Given the description of an element on the screen output the (x, y) to click on. 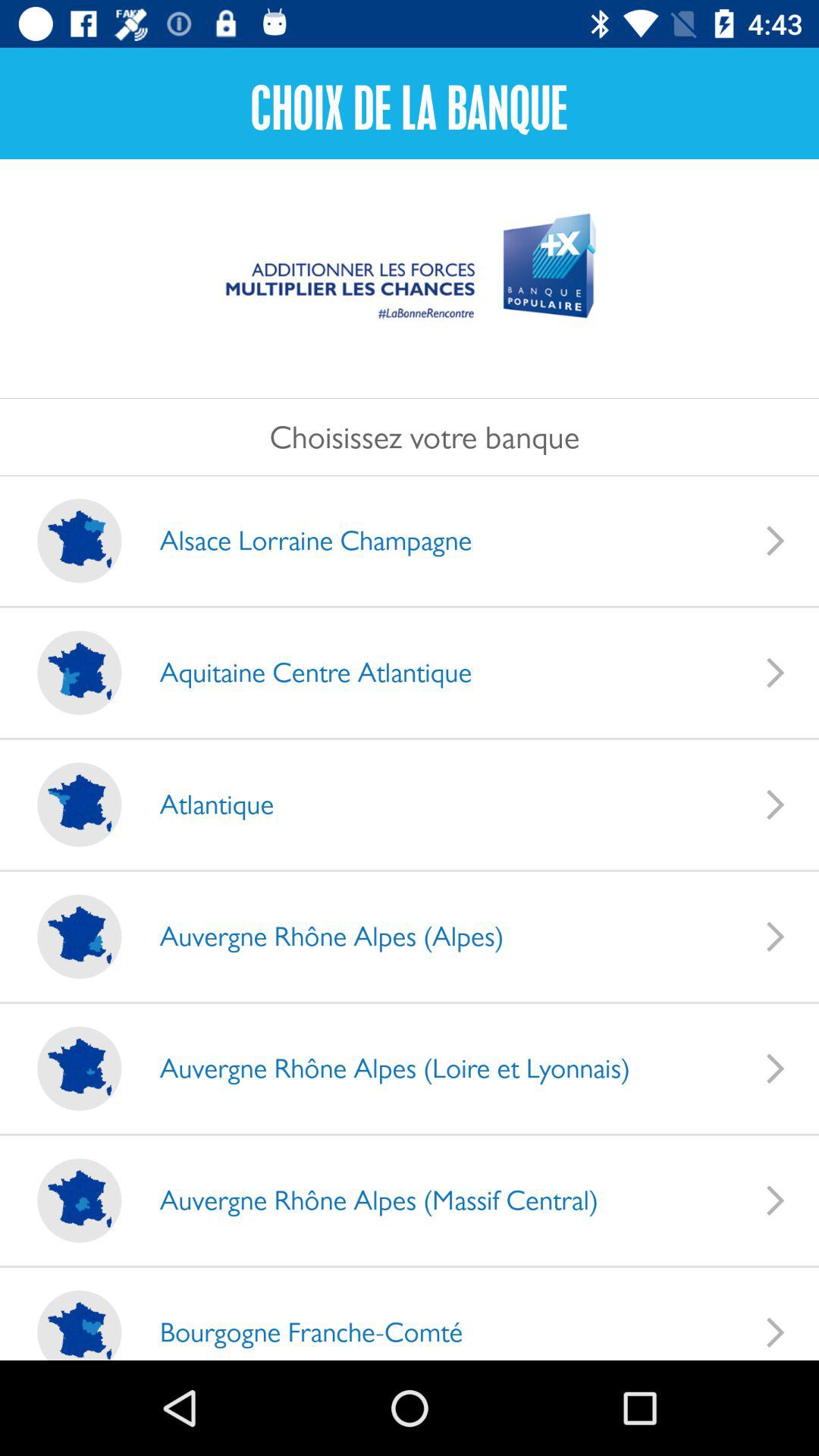
select the aquitaine centre atlantique (300, 672)
